Given the description of an element on the screen output the (x, y) to click on. 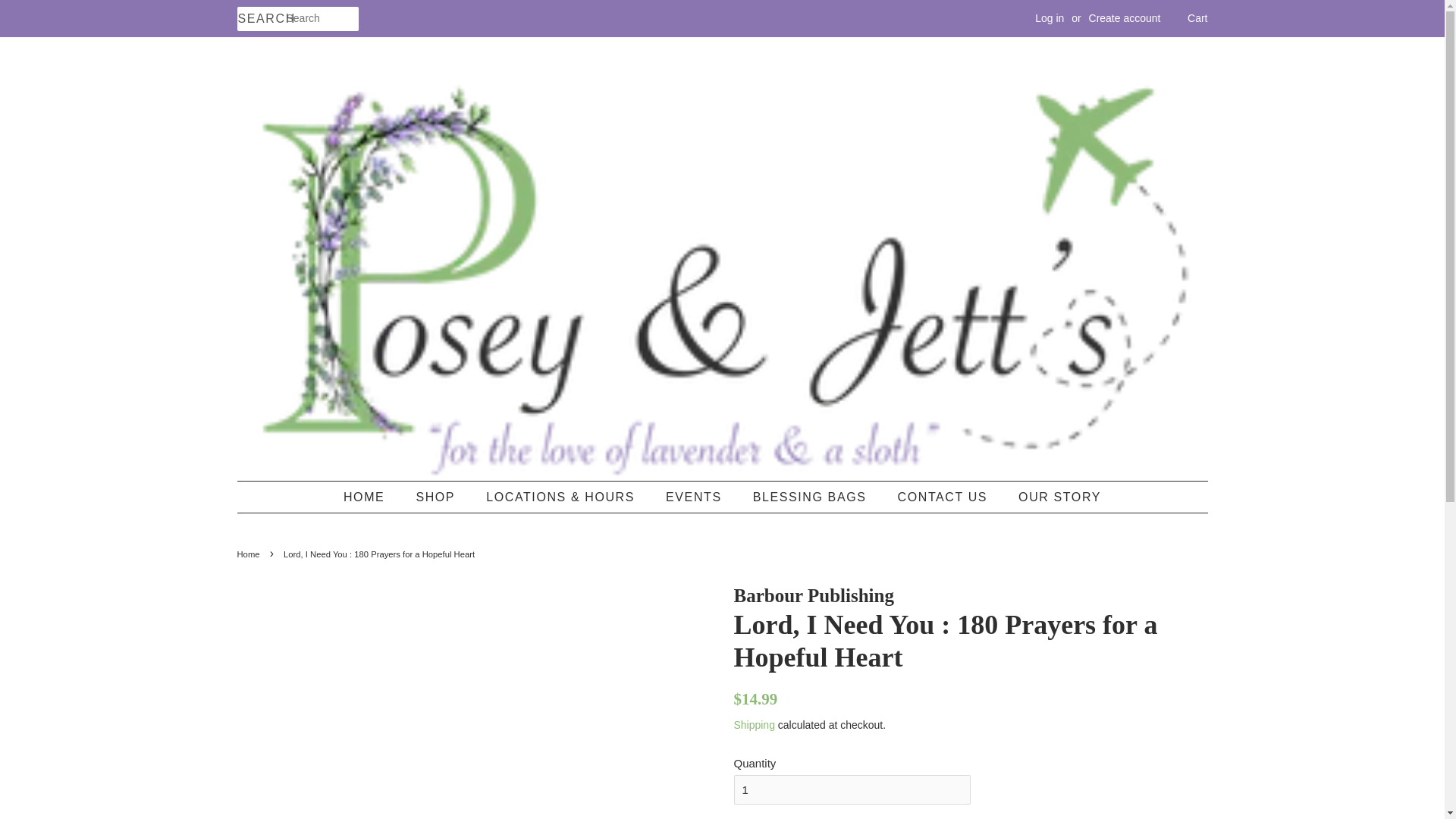
Shipping (753, 725)
HOME (370, 496)
BLESSING BAGS (811, 496)
EVENTS (694, 496)
Create account (1124, 18)
1 (852, 789)
CONTACT US (944, 496)
Cart (1197, 18)
Log in (1049, 18)
SHOP (437, 496)
OUR STORY (1053, 496)
Back to the frontpage (249, 553)
SEARCH (260, 18)
Home (249, 553)
